Given the description of an element on the screen output the (x, y) to click on. 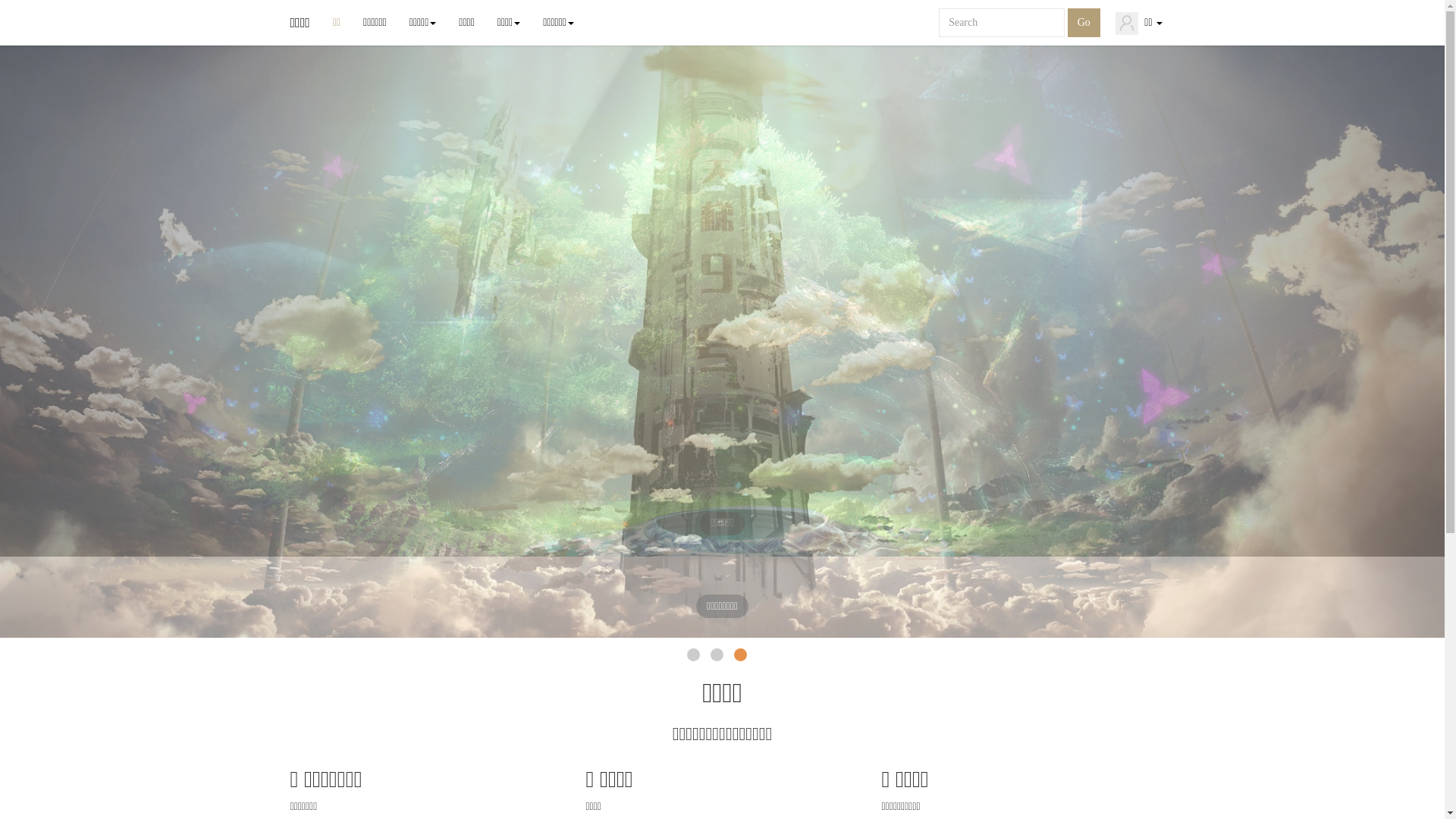
Go Element type: text (1083, 22)
3 Element type: text (740, 573)
2 Element type: text (716, 573)
1 Element type: text (693, 573)
